Given the description of an element on the screen output the (x, y) to click on. 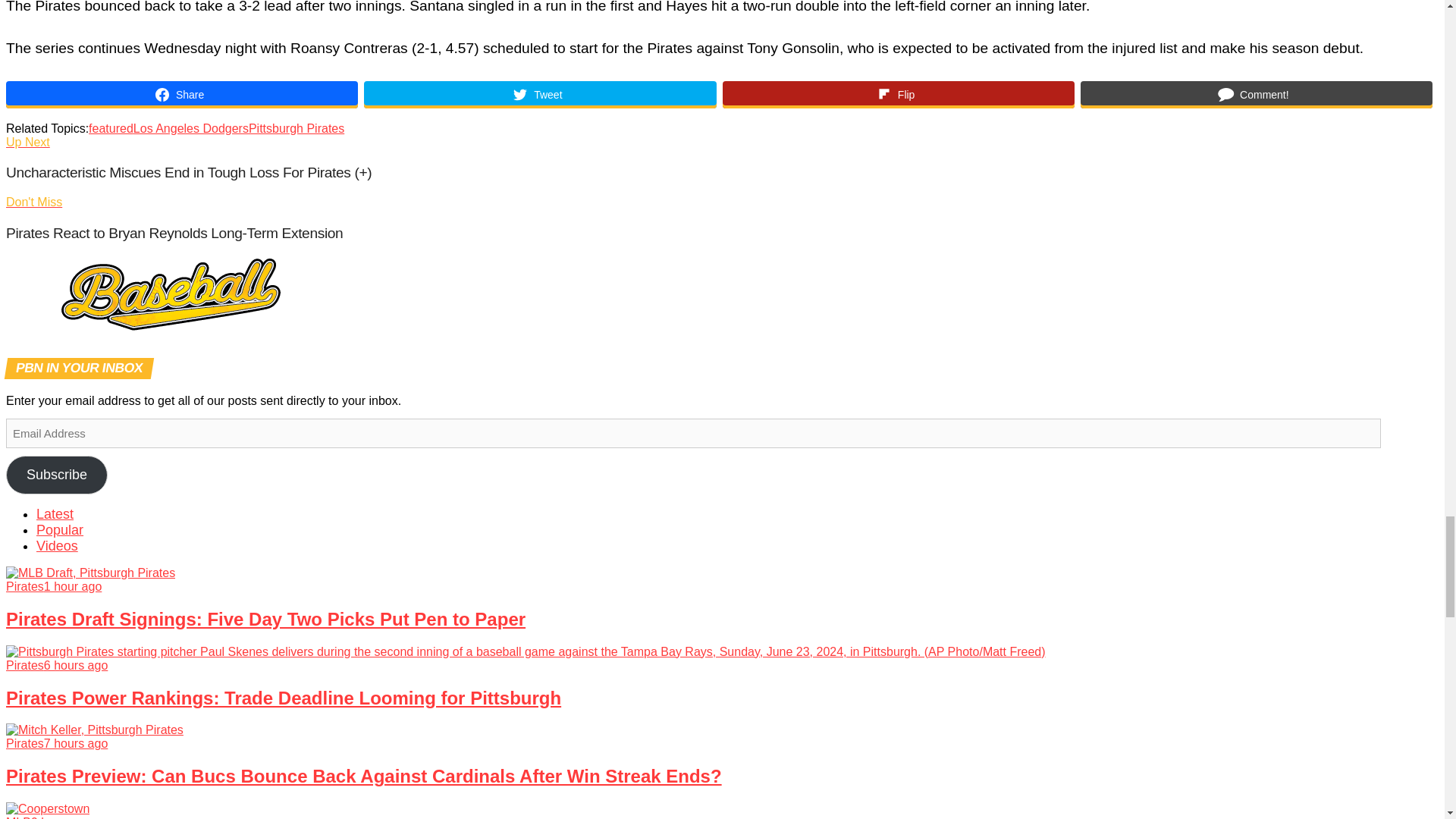
Share on Flip (898, 94)
Share on Share (181, 94)
Share on Tweet (540, 94)
